Given the description of an element on the screen output the (x, y) to click on. 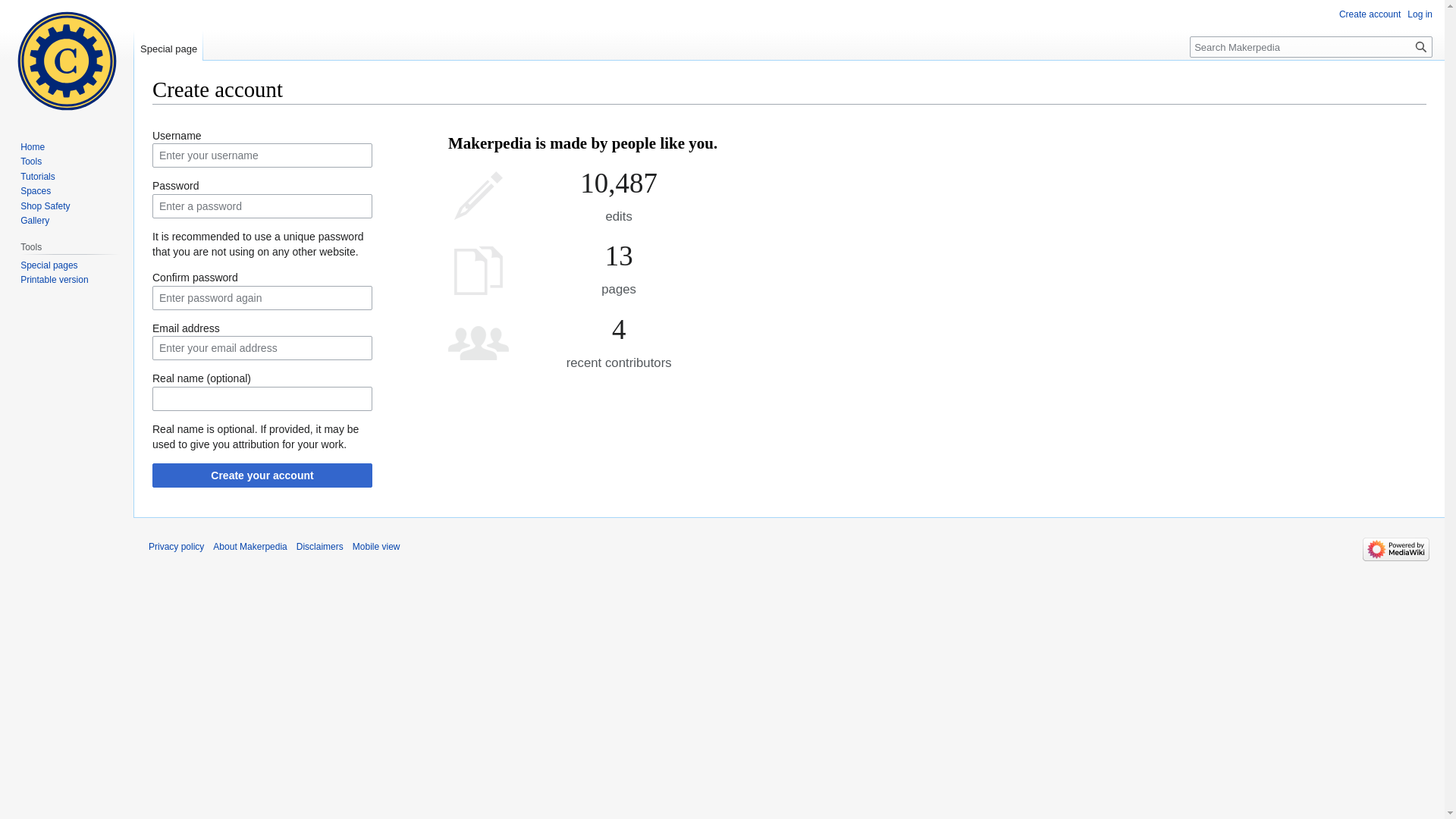
Search Makerpedia [alt-shift-f] Element type: hover (1310, 46)
Create your account Element type: text (262, 475)
Tutorials Element type: text (37, 176)
Jump to navigation Element type: text (151, 116)
Search the pages for this text Element type: hover (1420, 46)
Privacy policy Element type: text (175, 546)
Create account Element type: text (1369, 14)
About Makerpedia Element type: text (249, 546)
Gallery Element type: text (34, 220)
Special pages Element type: text (48, 265)
Visit the main page Element type: hover (66, 60)
Spaces Element type: text (35, 190)
Search Element type: text (1420, 46)
Disclaimers Element type: text (319, 546)
Log in Element type: text (1419, 14)
Mobile view Element type: text (376, 546)
Special page Element type: text (168, 45)
Home Element type: text (32, 146)
Tools Element type: text (30, 161)
Printable version Element type: text (53, 279)
Shop Safety Element type: text (44, 205)
